Given the description of an element on the screen output the (x, y) to click on. 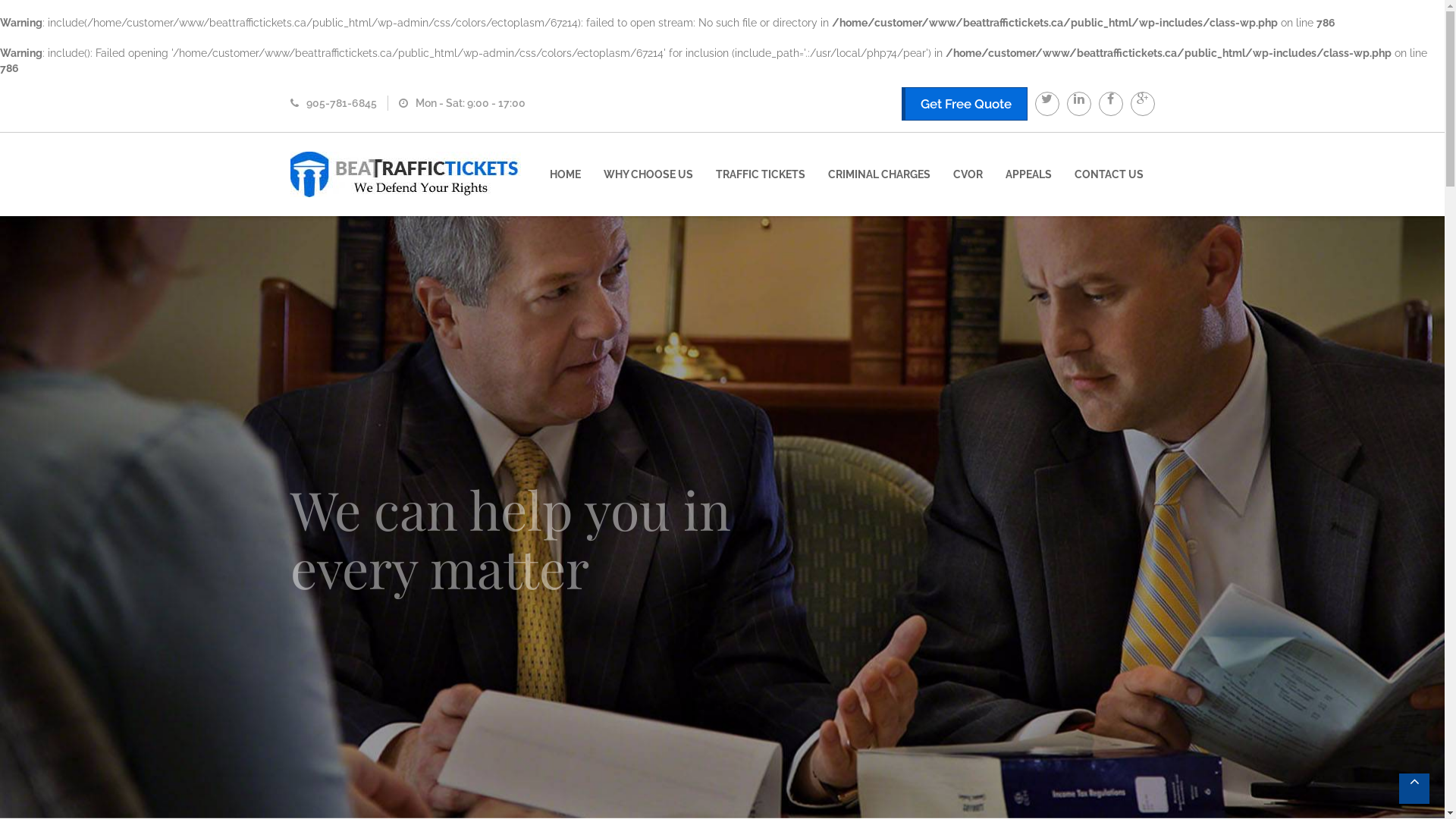
HOME Element type: text (565, 174)
WHY CHOOSE US Element type: text (647, 174)
CONTACT US Element type: text (1108, 174)
Get Free Consultation Element type: text (384, 599)
CVOR Element type: text (967, 174)
APPEALS Element type: text (1027, 174)
TRAFFIC TICKETS Element type: text (759, 174)
Get Free Quote Element type: text (963, 103)
CRIMINAL CHARGES Element type: text (878, 174)
